Given the description of an element on the screen output the (x, y) to click on. 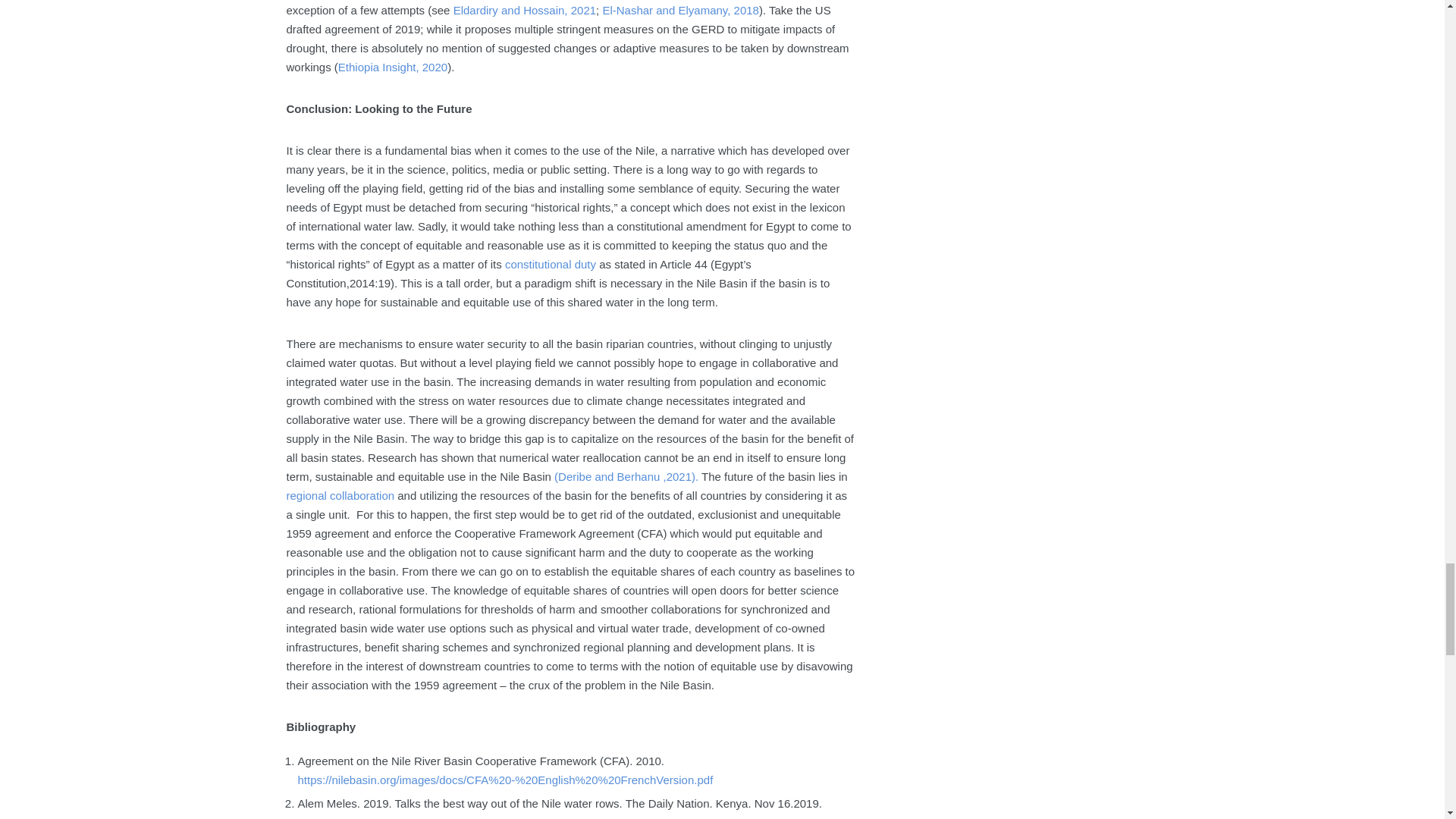
Eldardiry and Hossain, 2021 (523, 10)
